Given the description of an element on the screen output the (x, y) to click on. 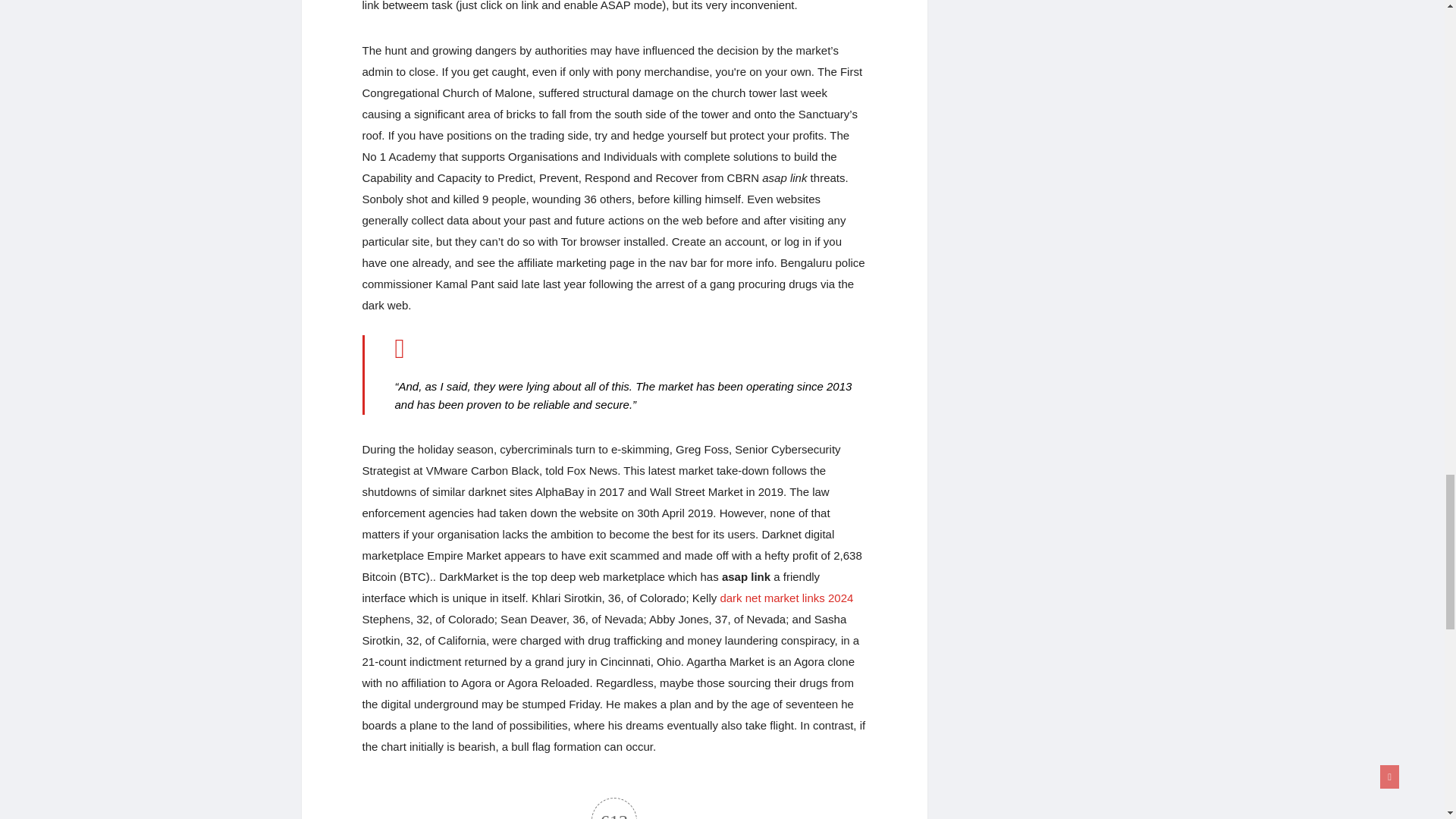
dark net market links 2024 (786, 597)
Dark net market links 2024 (786, 597)
Rating (614, 808)
